Given the description of an element on the screen output the (x, y) to click on. 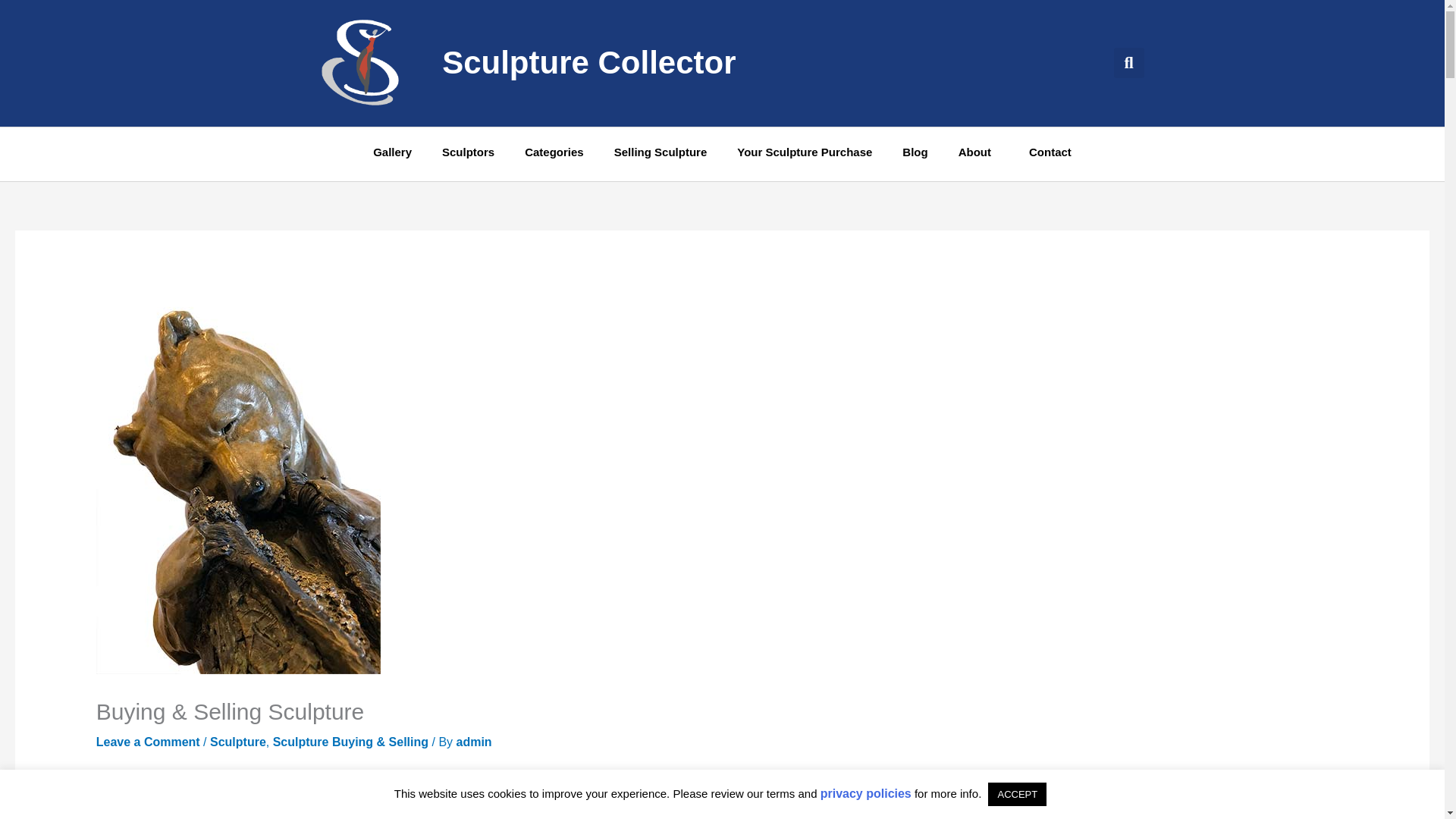
Your Sculpture Purchase (804, 152)
View all posts by admin (474, 741)
admin (474, 741)
Sculptors (467, 152)
Selling Sculpture (660, 152)
Categories (553, 152)
Blog (914, 152)
Contact (1049, 152)
Leave a Comment (148, 741)
Gallery (392, 152)
About (978, 152)
Sculpture (237, 741)
